Given the description of an element on the screen output the (x, y) to click on. 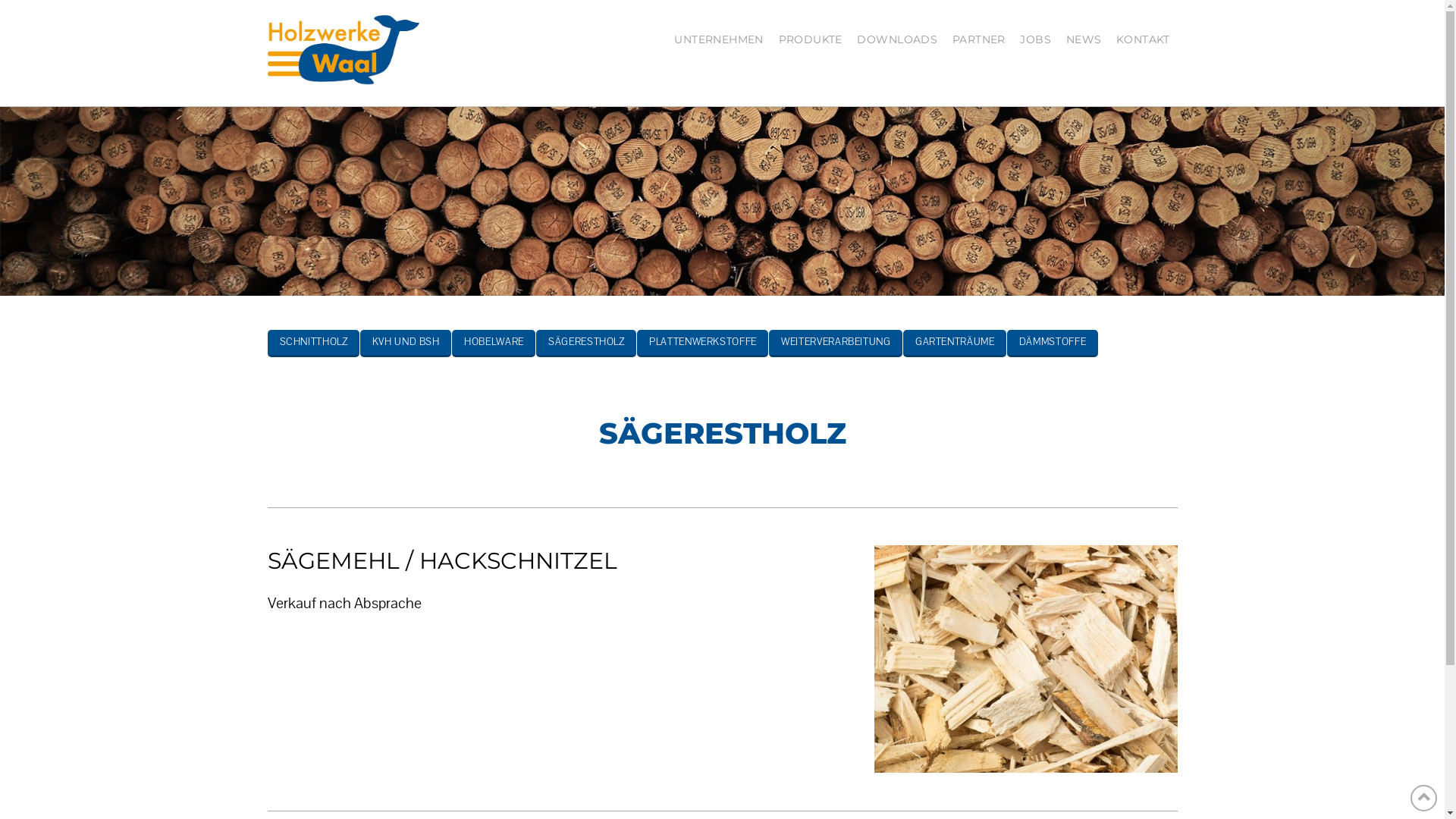
HOBELWARE Element type: text (493, 343)
DOWNLOADS Element type: text (896, 37)
WEITERVERARBEITUNG Element type: text (835, 343)
KONTAKT Element type: text (1142, 37)
UNTERNEHMEN Element type: text (718, 37)
KVH UND BSH Element type: text (405, 343)
PRODUKTE Element type: text (809, 37)
PARTNER Element type: text (978, 37)
PLATTENWERKSTOFFE Element type: text (702, 343)
JOBS Element type: text (1034, 37)
Back to Top Element type: hover (1423, 797)
NEWS Element type: text (1083, 37)
SCHNITTHOLZ Element type: text (312, 343)
